Given the description of an element on the screen output the (x, y) to click on. 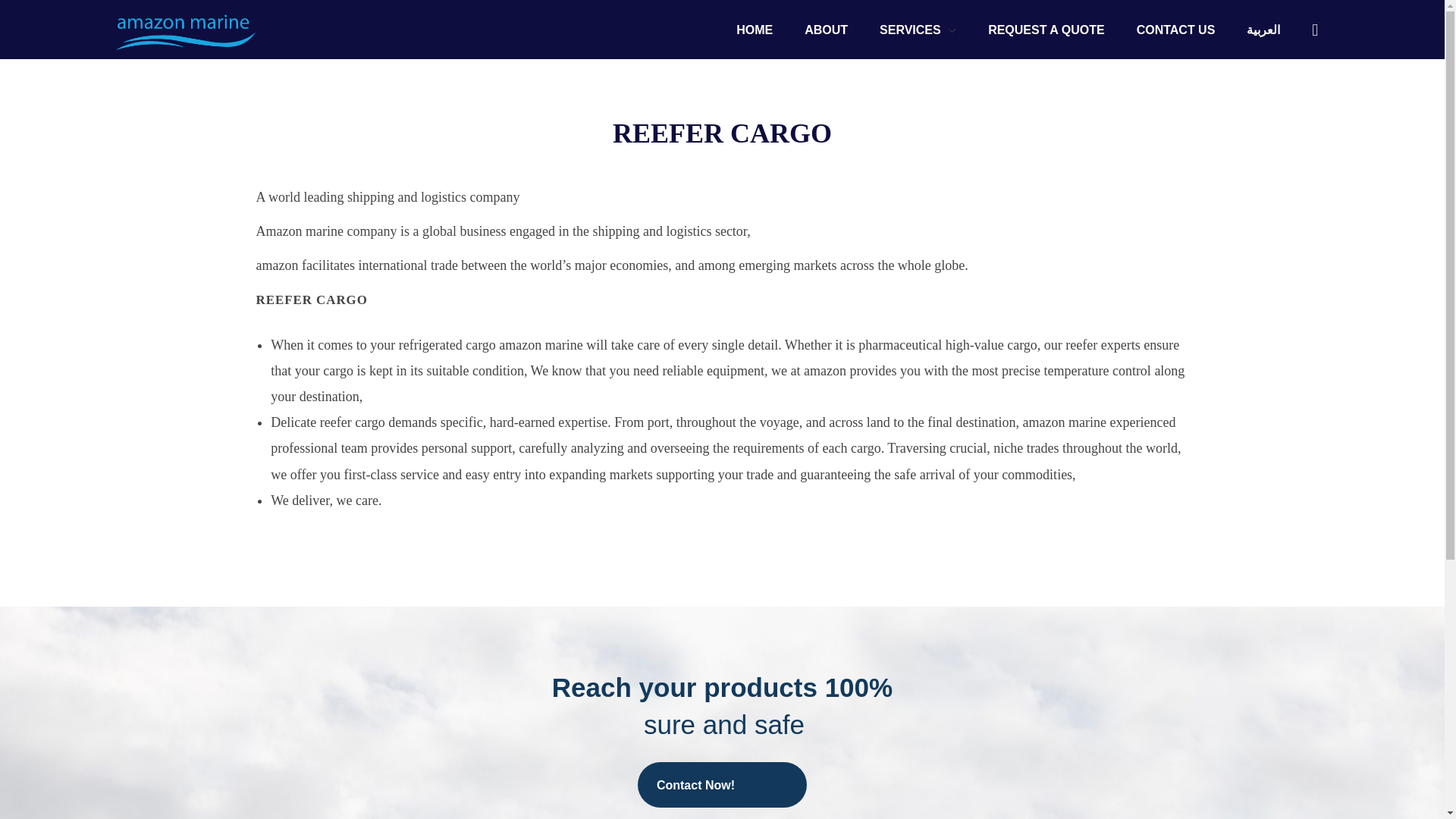
HOME (762, 30)
CONTACT US (1176, 30)
Contact Now! (721, 784)
REQUEST A QUOTE (1046, 30)
ABOUT (826, 30)
SERVICES (917, 30)
